Given the description of an element on the screen output the (x, y) to click on. 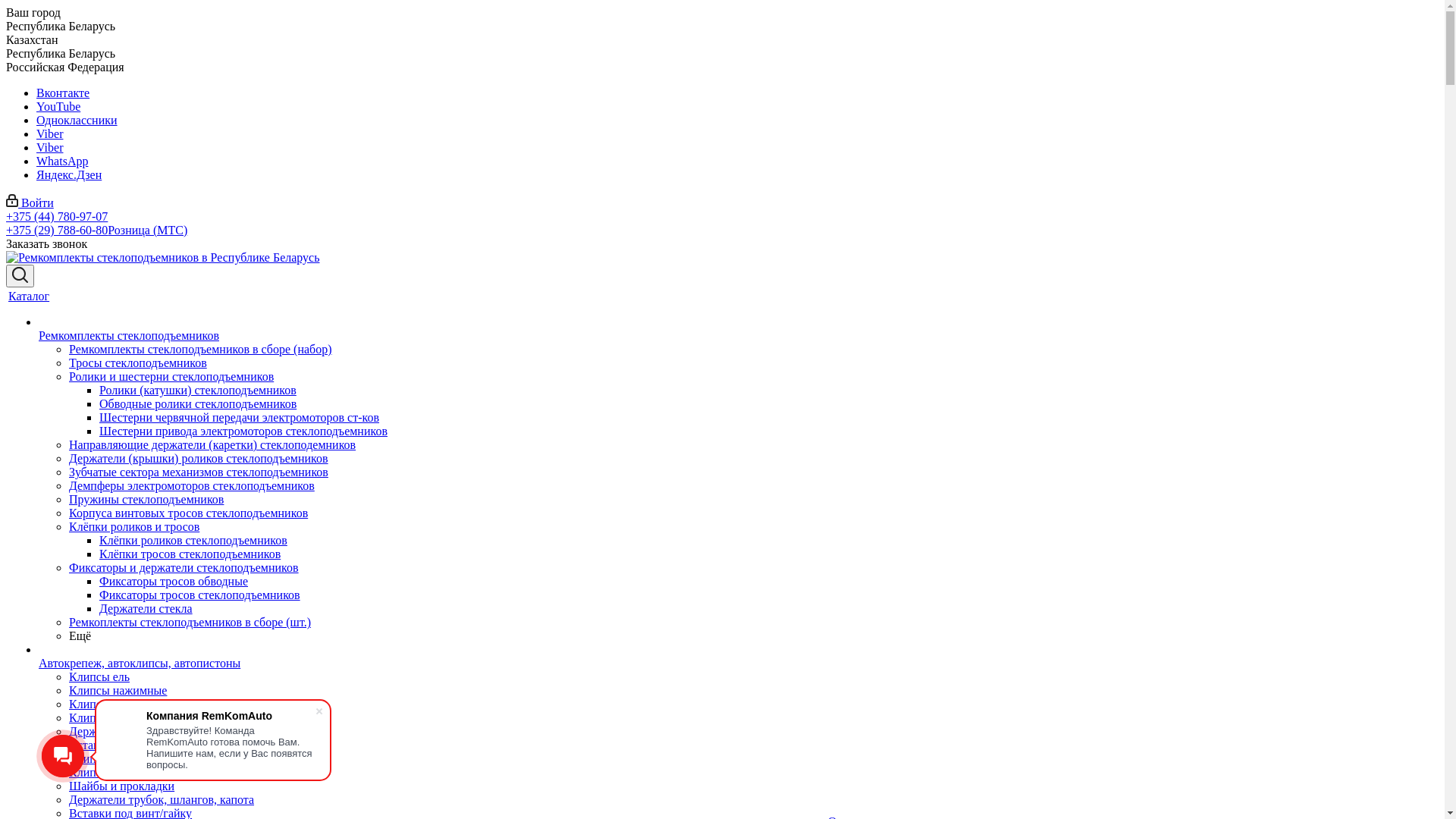
Viber Element type: text (49, 133)
Viber Element type: text (49, 147)
WhatsApp Element type: text (61, 160)
YouTube Element type: text (58, 106)
+375 (44) 780-97-07 Element type: text (56, 216)
